Given the description of an element on the screen output the (x, y) to click on. 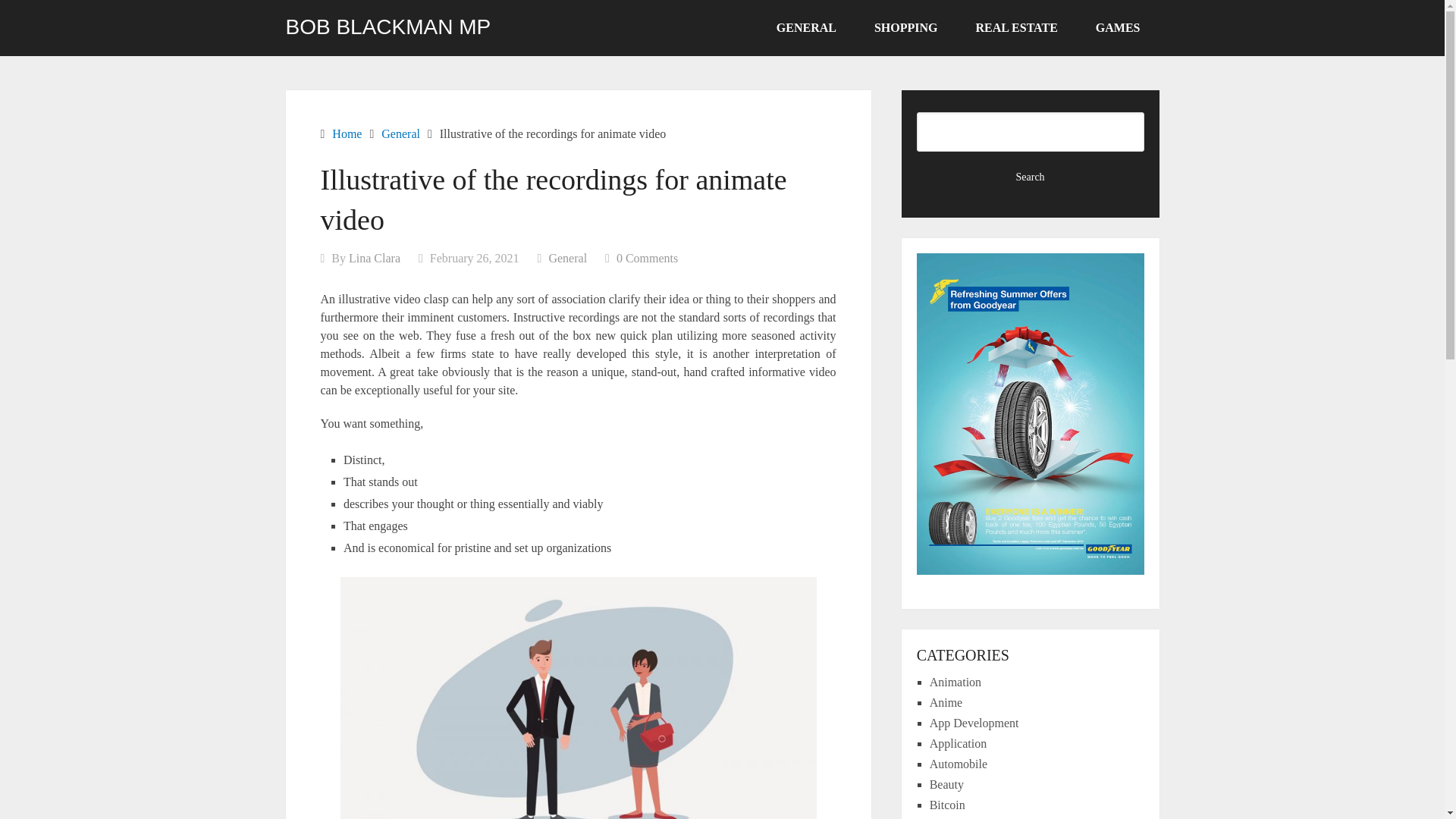
0 Comments (646, 257)
Posts by Lina Clara (374, 257)
Search (1030, 176)
App Development (974, 722)
Lina Clara (374, 257)
Bitcoin (947, 804)
Anime (946, 702)
GENERAL (806, 28)
Search (1030, 176)
BOB BLACKMAN MP (387, 26)
Beauty (946, 784)
Application (958, 743)
Animation (955, 681)
Home (346, 133)
GAMES (1117, 28)
